Given the description of an element on the screen output the (x, y) to click on. 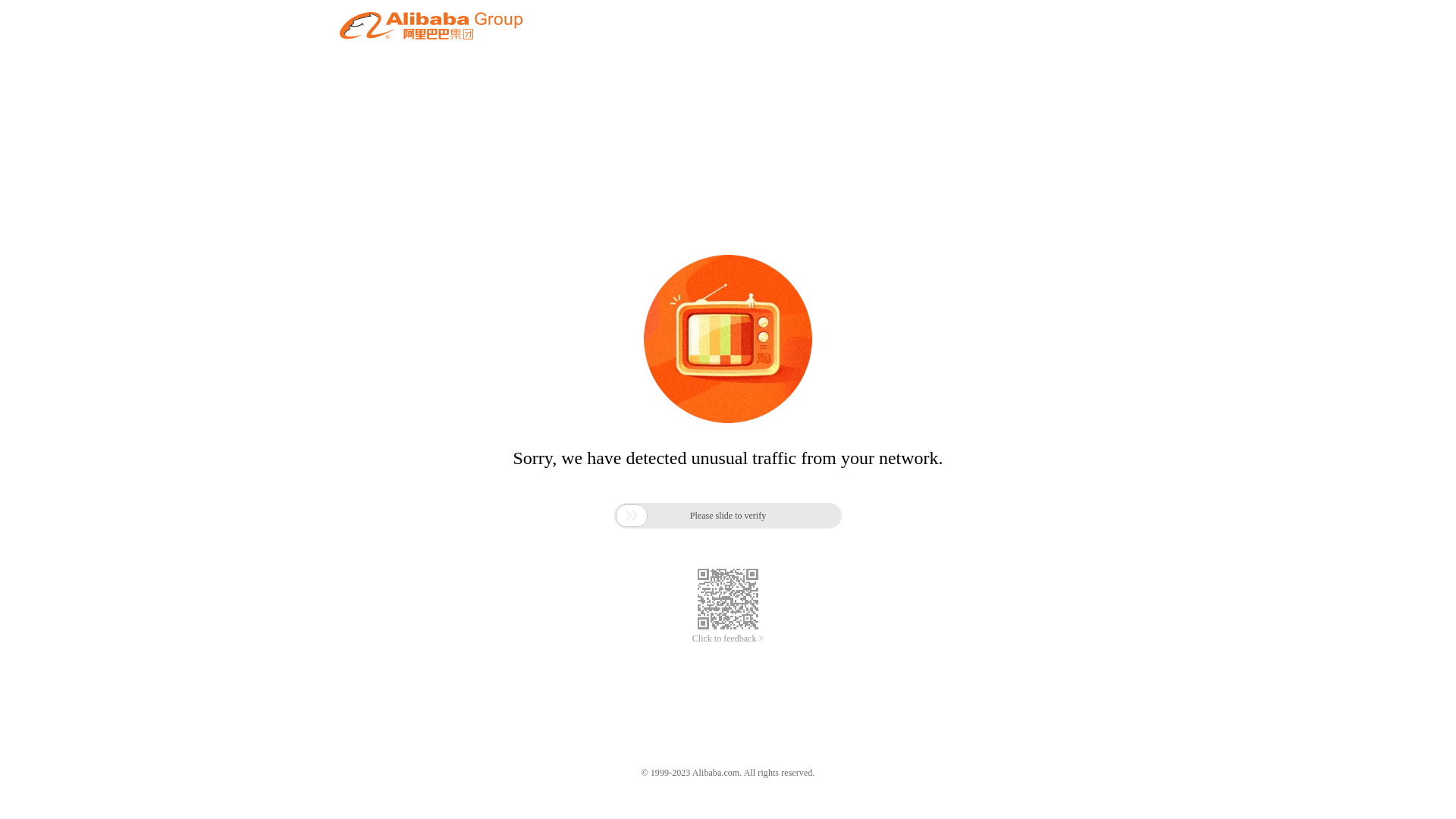
Click to feedback > Element type: text (727, 638)
